Given the description of an element on the screen output the (x, y) to click on. 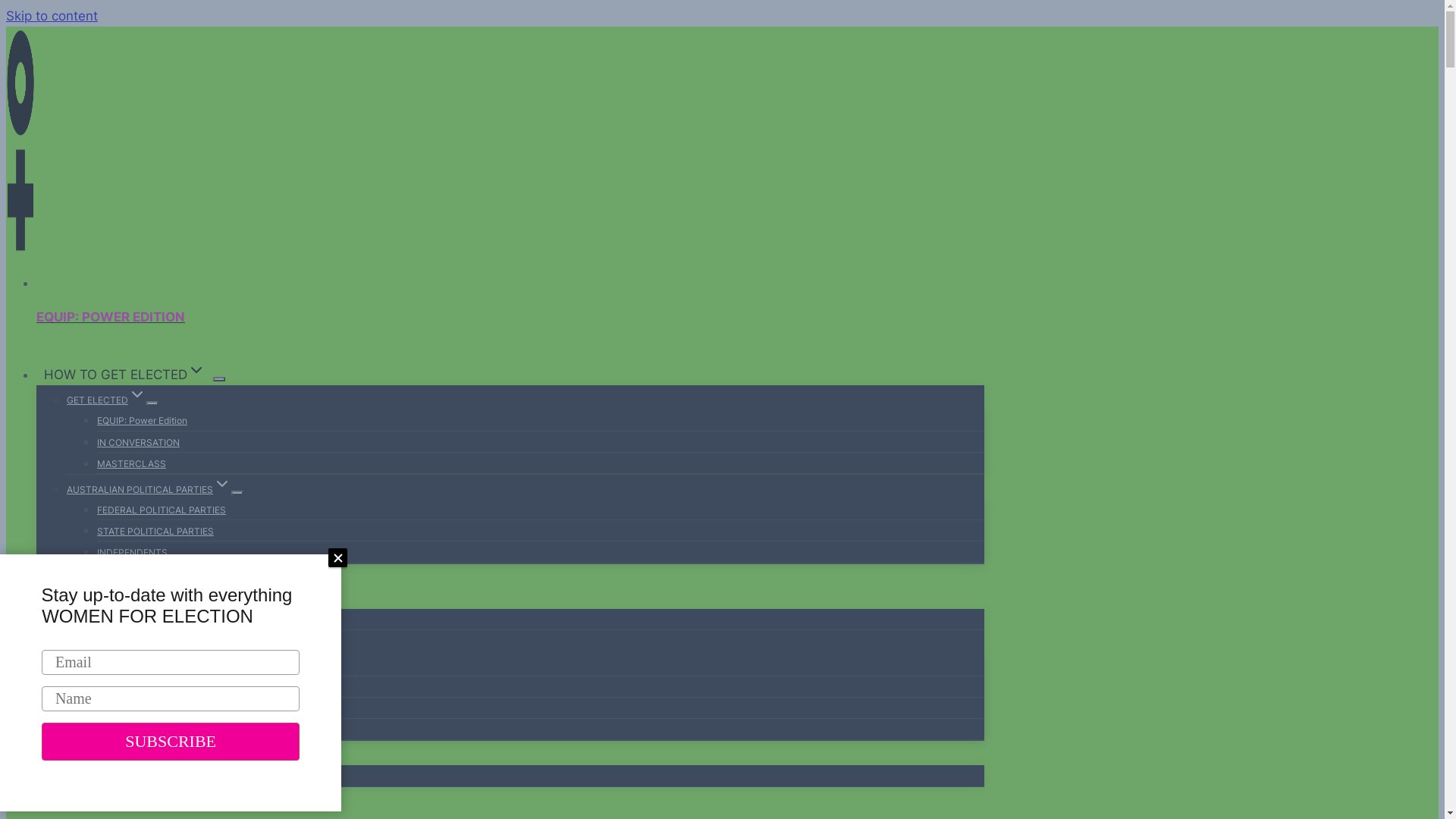
OUR LEADERSHIP TEAM Element type: text (150, 665)
HOW TO GET ELECTEDExpand Element type: text (124, 374)
GET ELECTEDExpand Element type: text (106, 399)
OUR AMBASSADORS Element type: text (143, 729)
STATE POLITICAL PARTIES Element type: text (155, 531)
Skip to content Element type: text (51, 15)
SUBSCRIBE Element type: text (170, 741)
INDEPENDENTS Element type: text (132, 552)
FEDERAL POLITICAL PARTIES Element type: text (161, 509)
OUR TEAMExpand Element type: text (99, 644)
ABOUT WFE Element type: text (92, 619)
EQUIP: POWER EDITION Element type: text (510, 316)
AUSTRALIAN POLITICAL PARTIESExpand Element type: text (148, 489)
ABOUT USExpand Element type: text (86, 597)
EQUIP: Power Edition Element type: text (142, 420)
MASTERCLASS Element type: text (131, 463)
FOUNDER Element type: text (119, 708)
BLOGExpand Element type: text (70, 754)
IN CONVERSATION Element type: text (138, 442)
EVENTS Element type: text (69, 573)
MEDIA Element type: text (80, 775)
OUR BOARD Element type: text (123, 687)
